Given the description of an element on the screen output the (x, y) to click on. 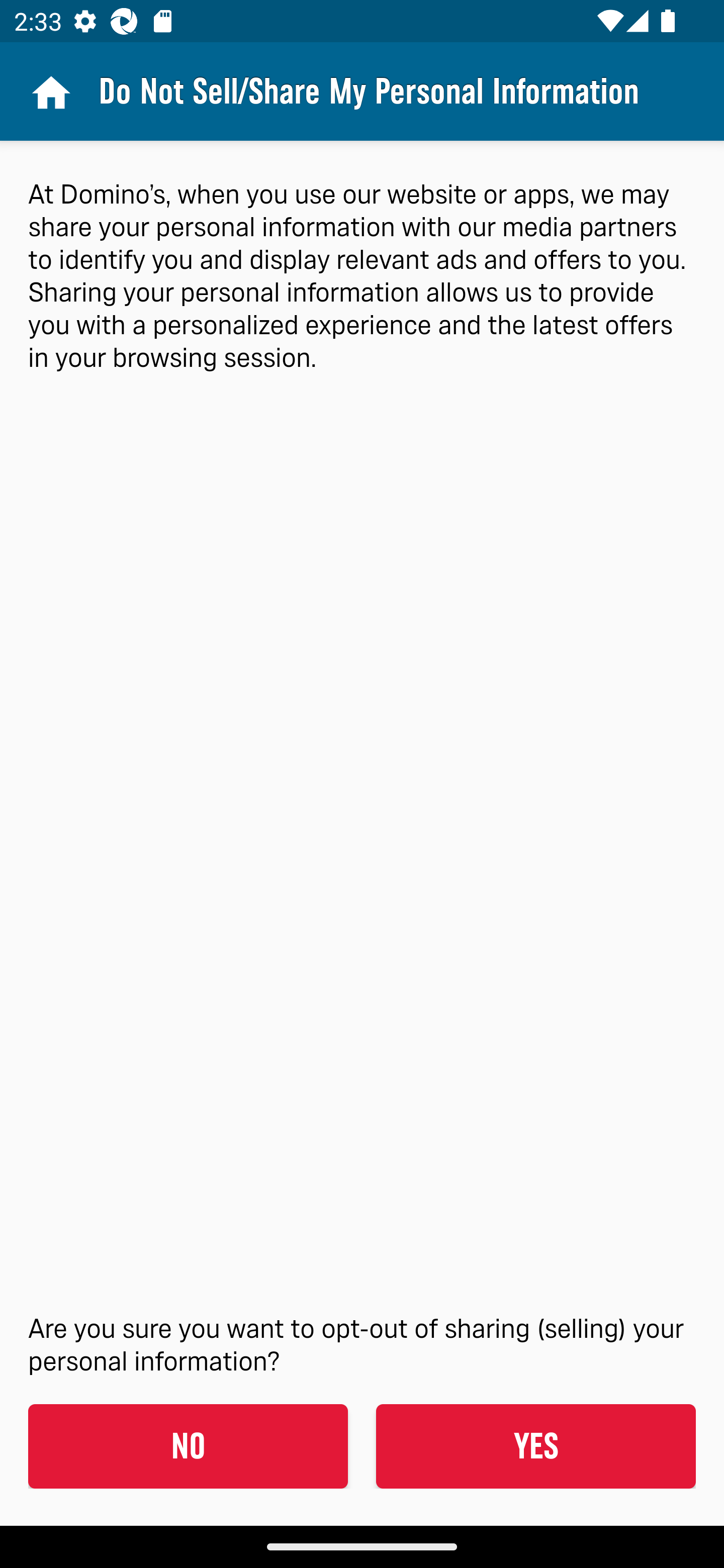
Home (49, 91)
NO (188, 1446)
YES (535, 1446)
